Given the description of an element on the screen output the (x, y) to click on. 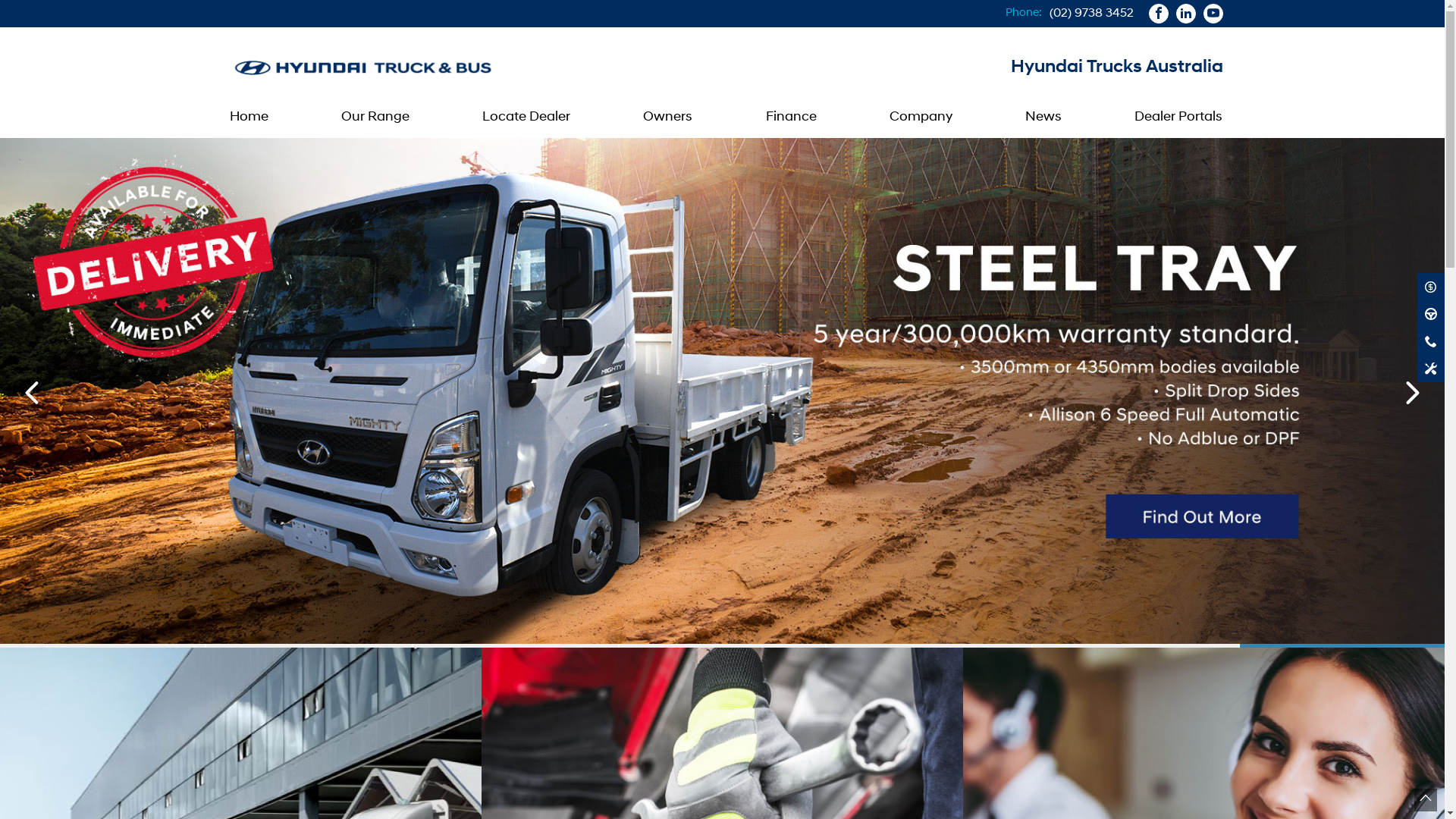
(02) 9738 3452 Element type: text (1091, 13)
Dealer Portals Element type: text (1174, 117)
Company Element type: text (920, 117)
Our Range Element type: text (375, 117)
Locate Dealer Element type: text (525, 117)
News Element type: text (1043, 117)
Owners Element type: text (667, 117)
Home Element type: text (248, 117)
Finance Element type: text (791, 117)
